Given the description of an element on the screen output the (x, y) to click on. 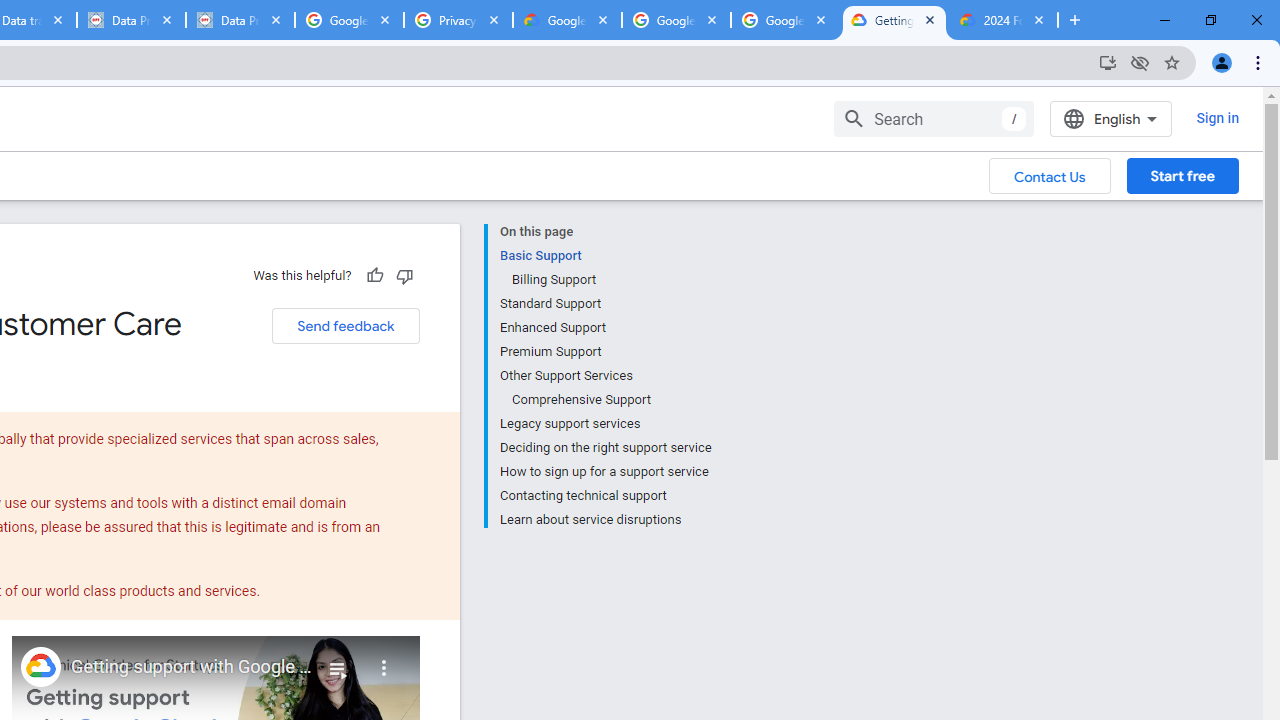
Getting support with Google Cloud Customer Care (191, 667)
Basic Support (605, 255)
Premium Support (605, 351)
Other Support Services (605, 376)
Not helpful (404, 275)
Google Workspace - Specific Terms (676, 20)
Contacting technical support (605, 495)
Enhanced Support (605, 327)
Data Privacy Framework (130, 20)
Install Google Cloud (1107, 62)
